Given the description of an element on the screen output the (x, y) to click on. 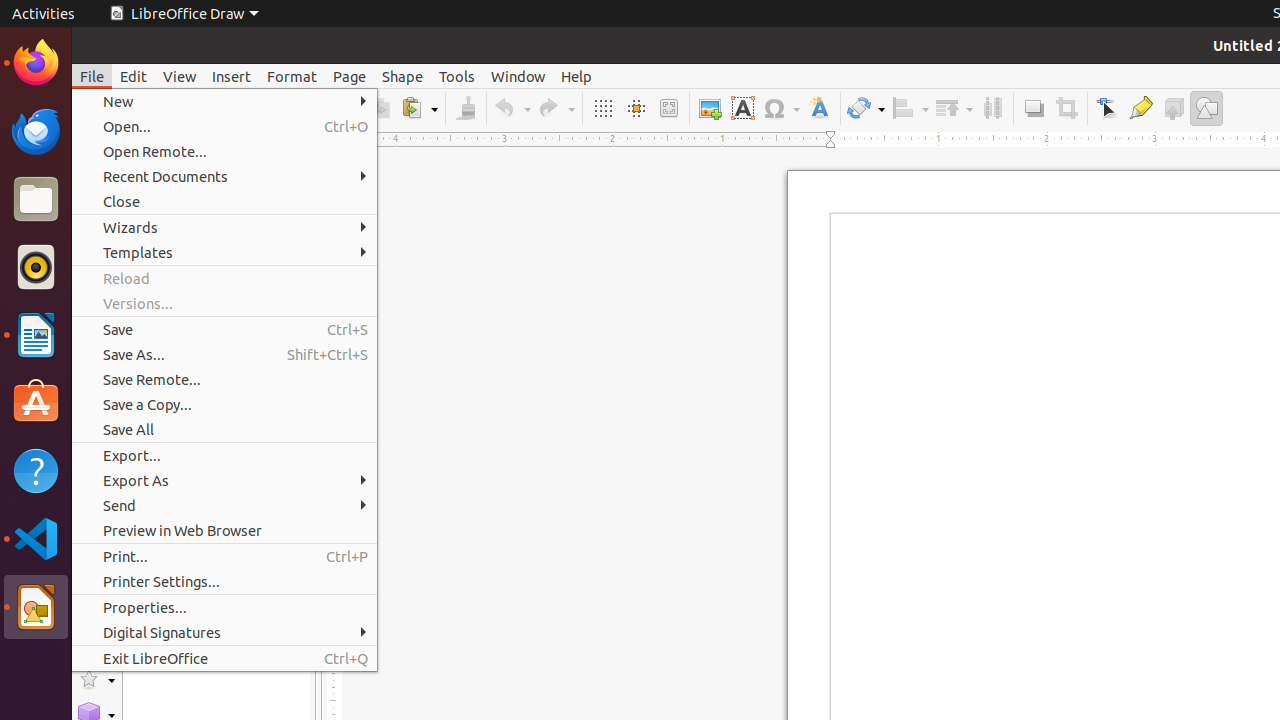
Edit Points Element type: push-button (1107, 108)
Glue Points Element type: push-button (1140, 108)
Save All Element type: menu-item (224, 429)
Align Element type: push-button (910, 108)
Distribution Element type: push-button (992, 108)
